Given the description of an element on the screen output the (x, y) to click on. 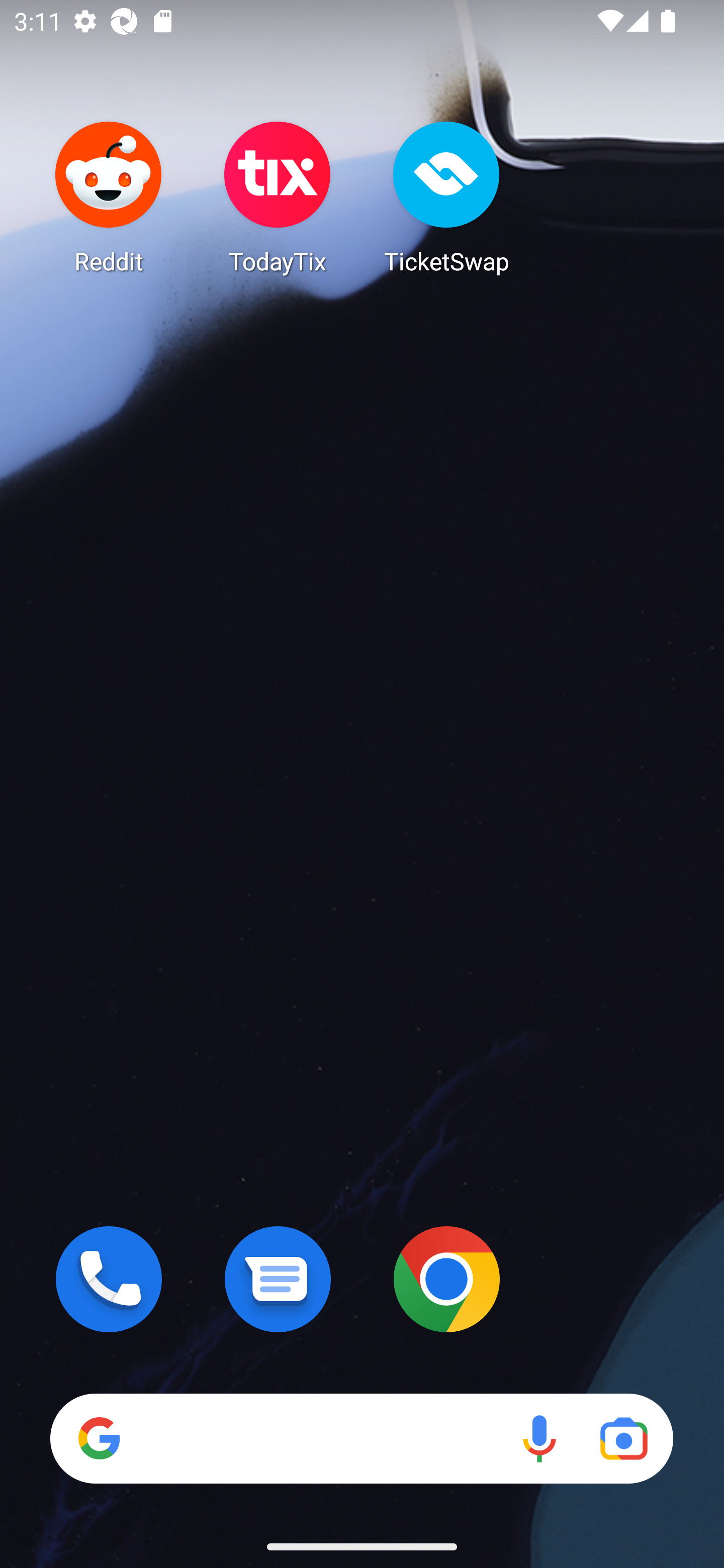
Reddit (108, 196)
TodayTix (277, 196)
TicketSwap (445, 196)
Phone (108, 1279)
Messages (277, 1279)
Chrome (446, 1279)
Voice search (539, 1438)
Google Lens (623, 1438)
